Given the description of an element on the screen output the (x, y) to click on. 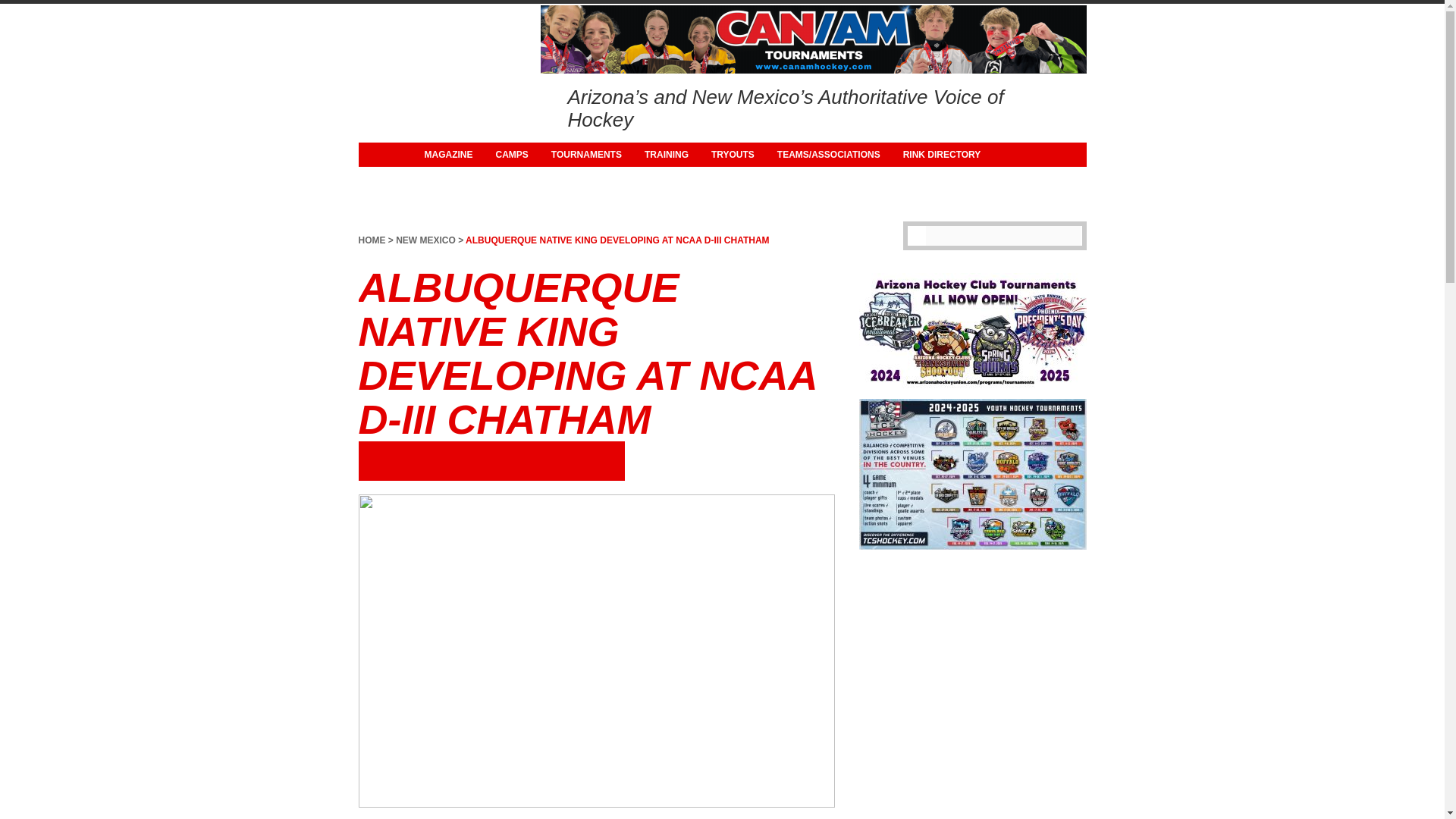
TOURNAMENTS (586, 154)
TRYOUTS (732, 154)
NEW MEXICO (425, 240)
MAGAZINE (447, 154)
RINK DIRECTORY (941, 154)
Arizona Rubber (412, 93)
HOME (371, 240)
TRAINING (666, 154)
ALUMNI (441, 178)
CAMPS (510, 154)
